Given the description of an element on the screen output the (x, y) to click on. 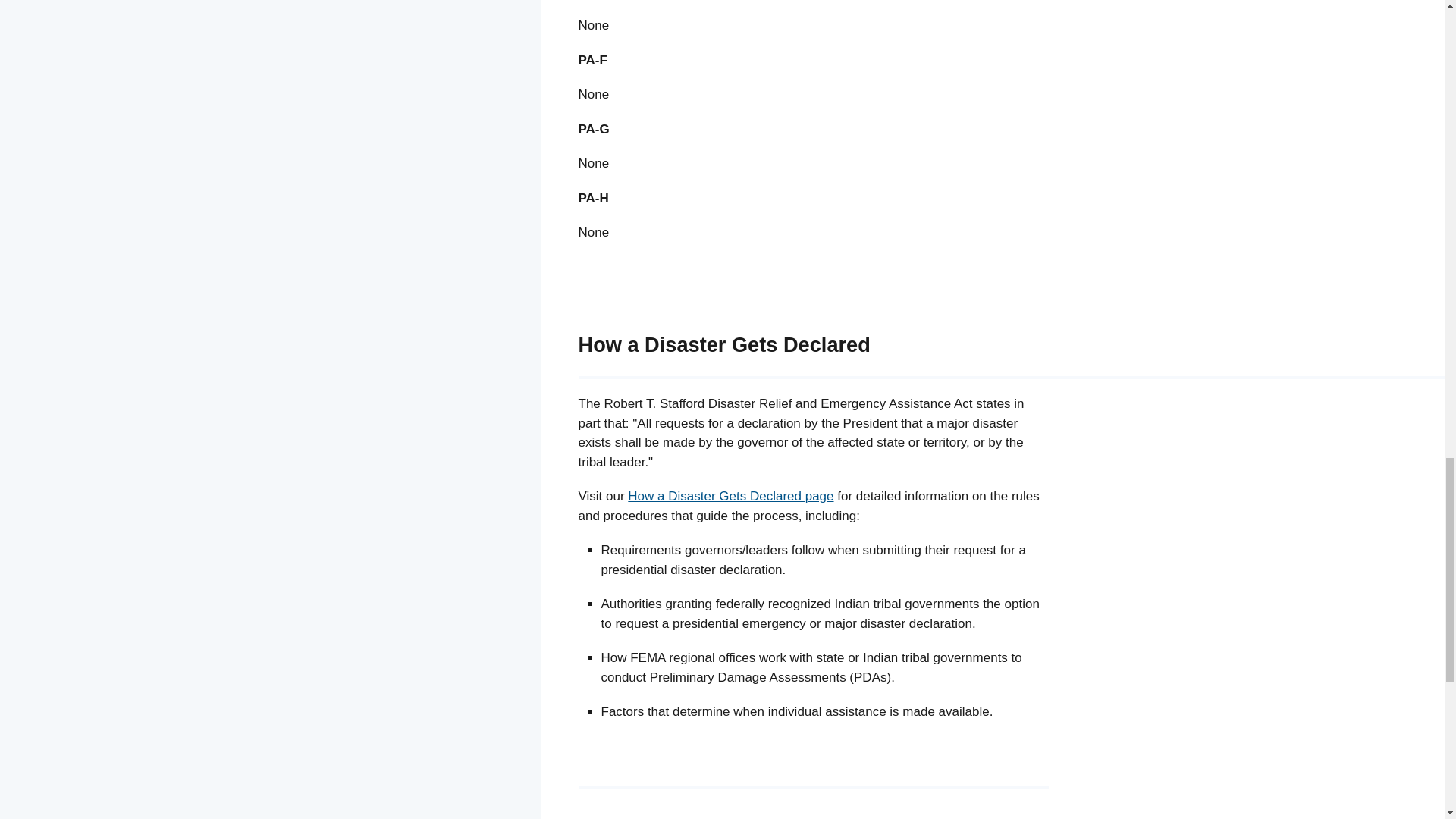
How a Disaster Gets Declared page (729, 495)
